Given the description of an element on the screen output the (x, y) to click on. 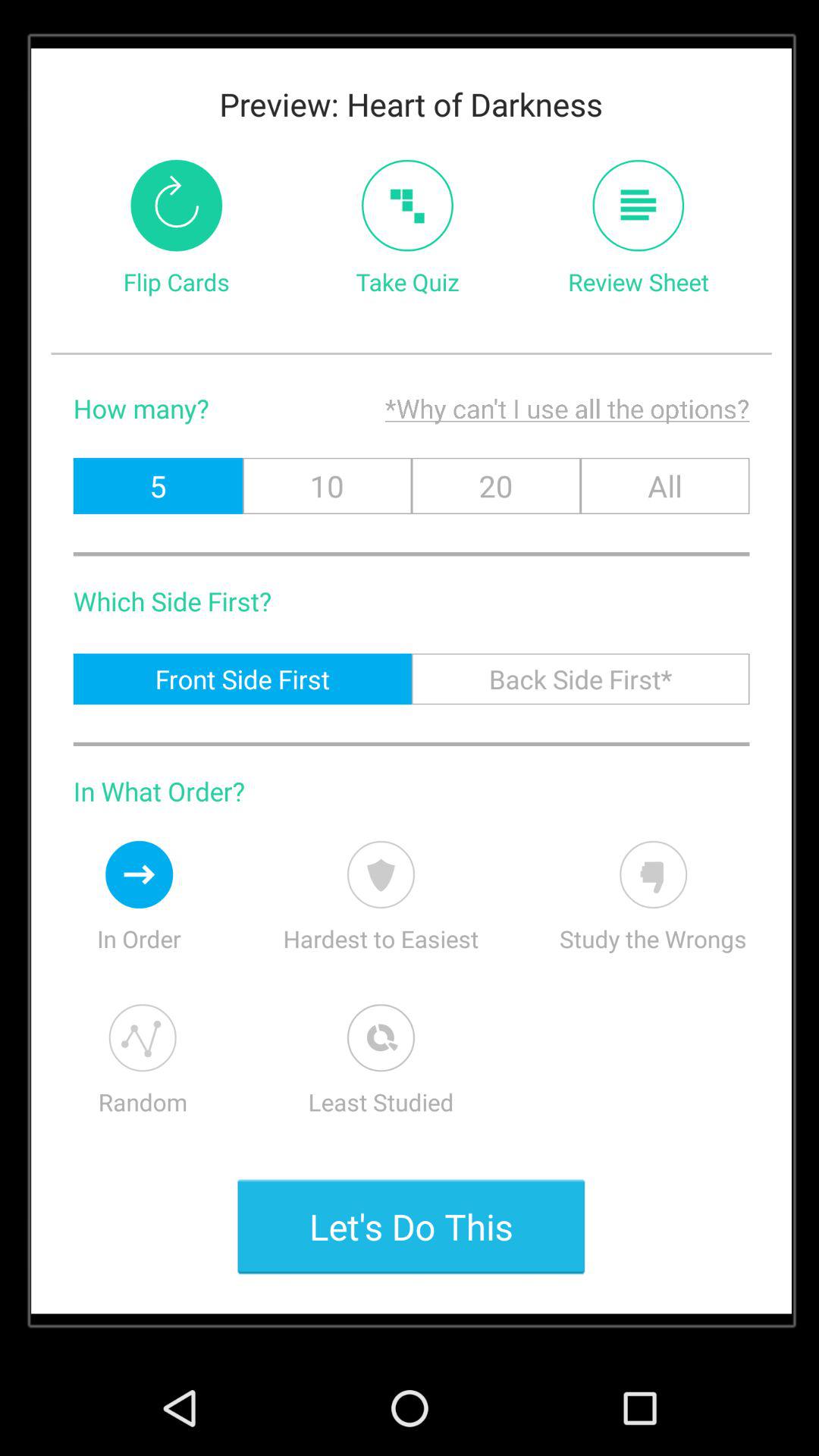
tap item to the right of flip cards (407, 205)
